Given the description of an element on the screen output the (x, y) to click on. 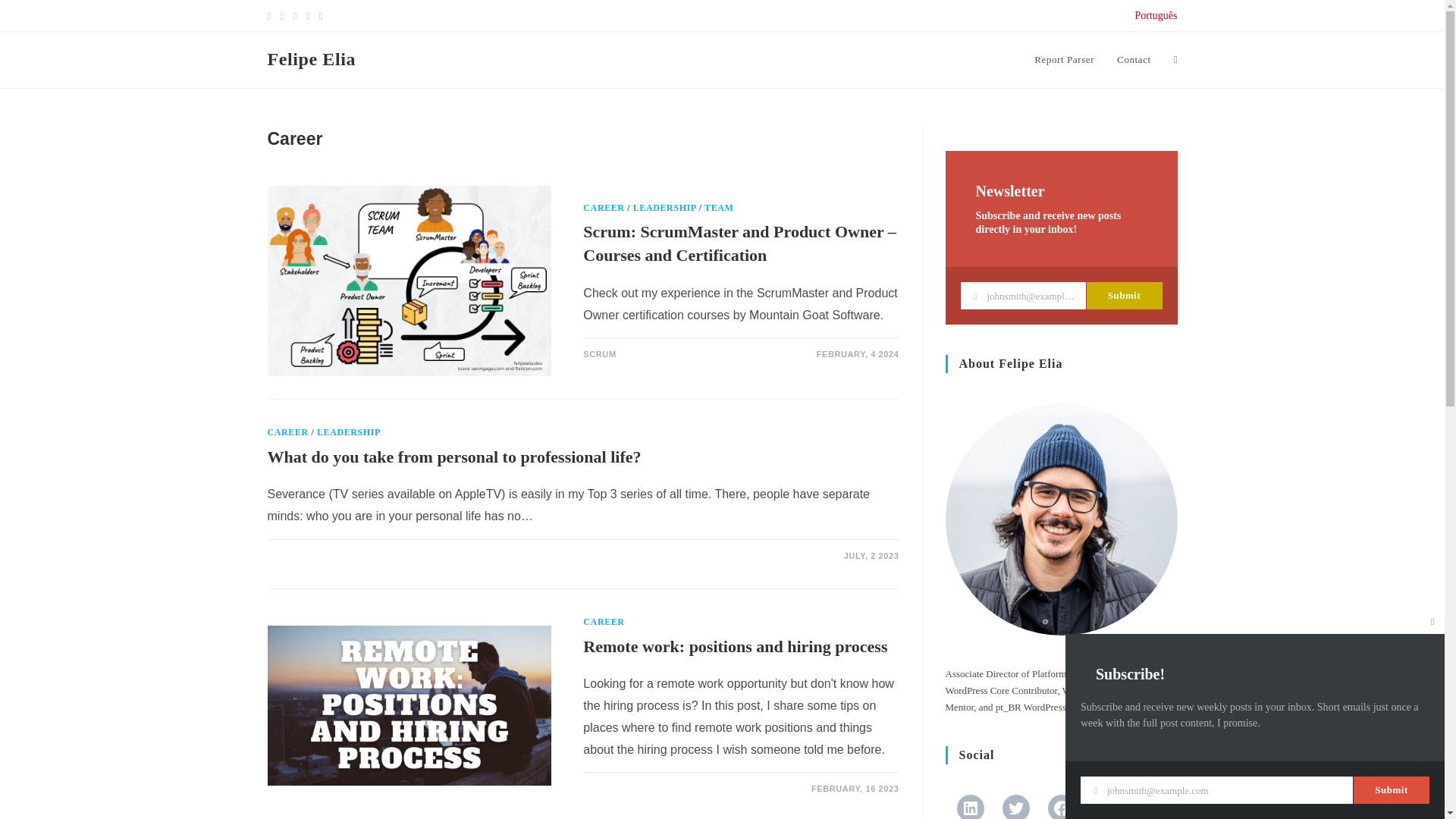
Facebook (1061, 806)
Submit (1123, 295)
What do you take from personal to professional life? (453, 456)
CAREER (603, 207)
CAREER (286, 431)
Report Parser (1064, 59)
LinkedIn (970, 806)
CAREER (603, 621)
Toggle website search (1175, 59)
Twitter (1016, 806)
Contact (1133, 59)
TEAM (718, 207)
Felipe Elia (310, 58)
LEADERSHIP (348, 431)
LEADERSHIP (664, 207)
